Given the description of an element on the screen output the (x, y) to click on. 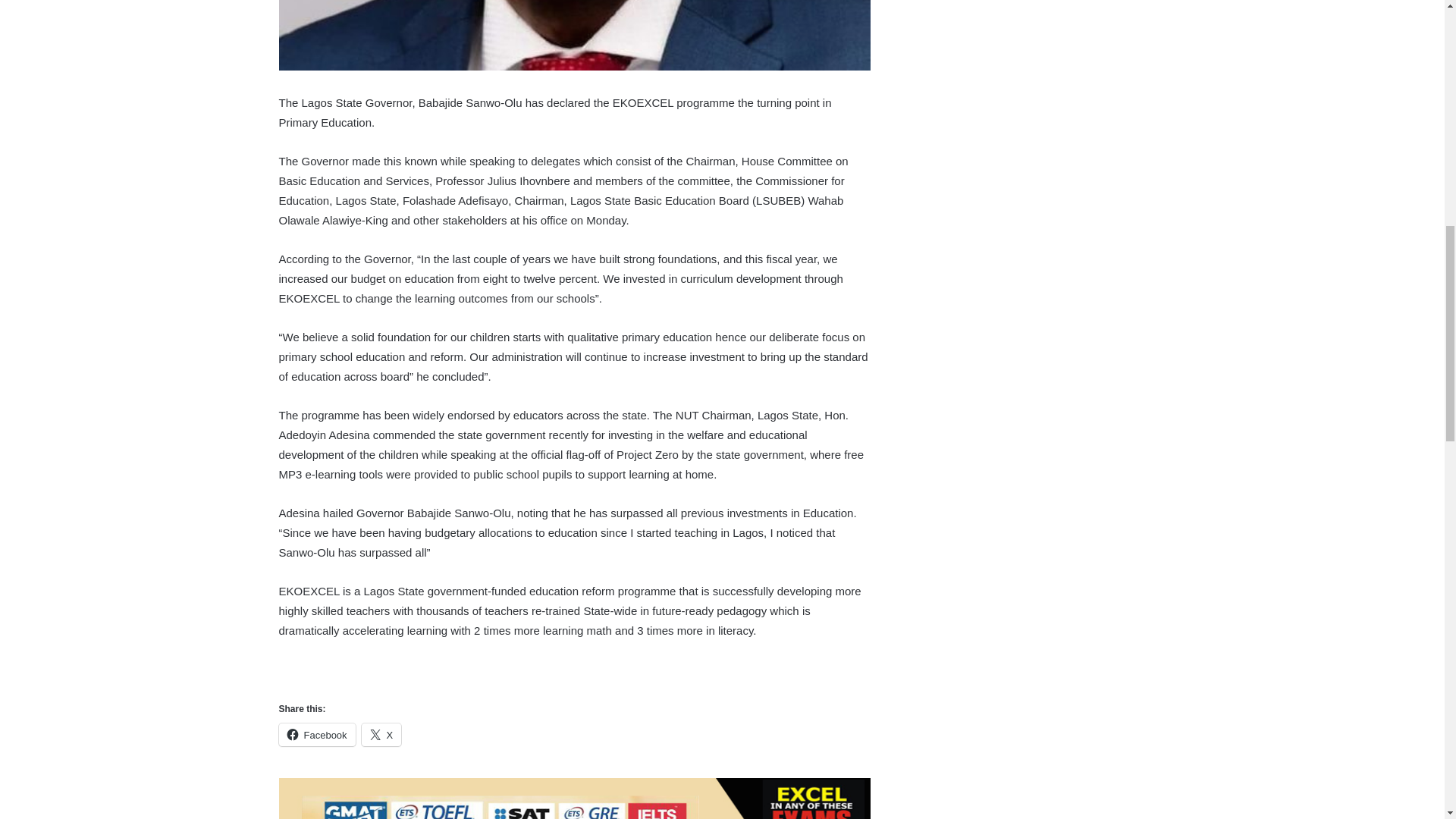
Click to share on X (381, 734)
X (381, 734)
Click to share on Facebook (317, 734)
Facebook (317, 734)
